Given the description of an element on the screen output the (x, y) to click on. 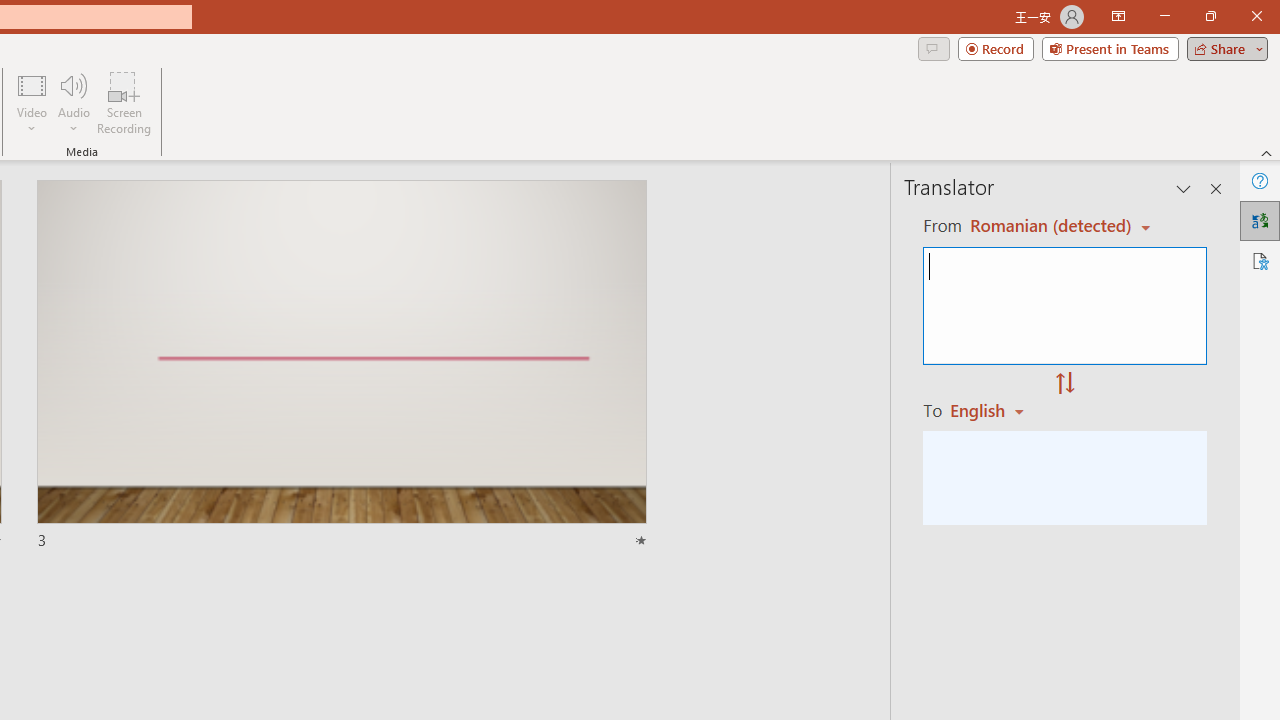
Collapse the Ribbon (1267, 152)
Task Pane Options (1183, 188)
Audio (73, 102)
Video (31, 102)
Close pane (1215, 188)
Restore Down (1210, 16)
Screen Recording... (123, 102)
Accessibility (1260, 260)
Translator (1260, 220)
